Given the description of an element on the screen output the (x, y) to click on. 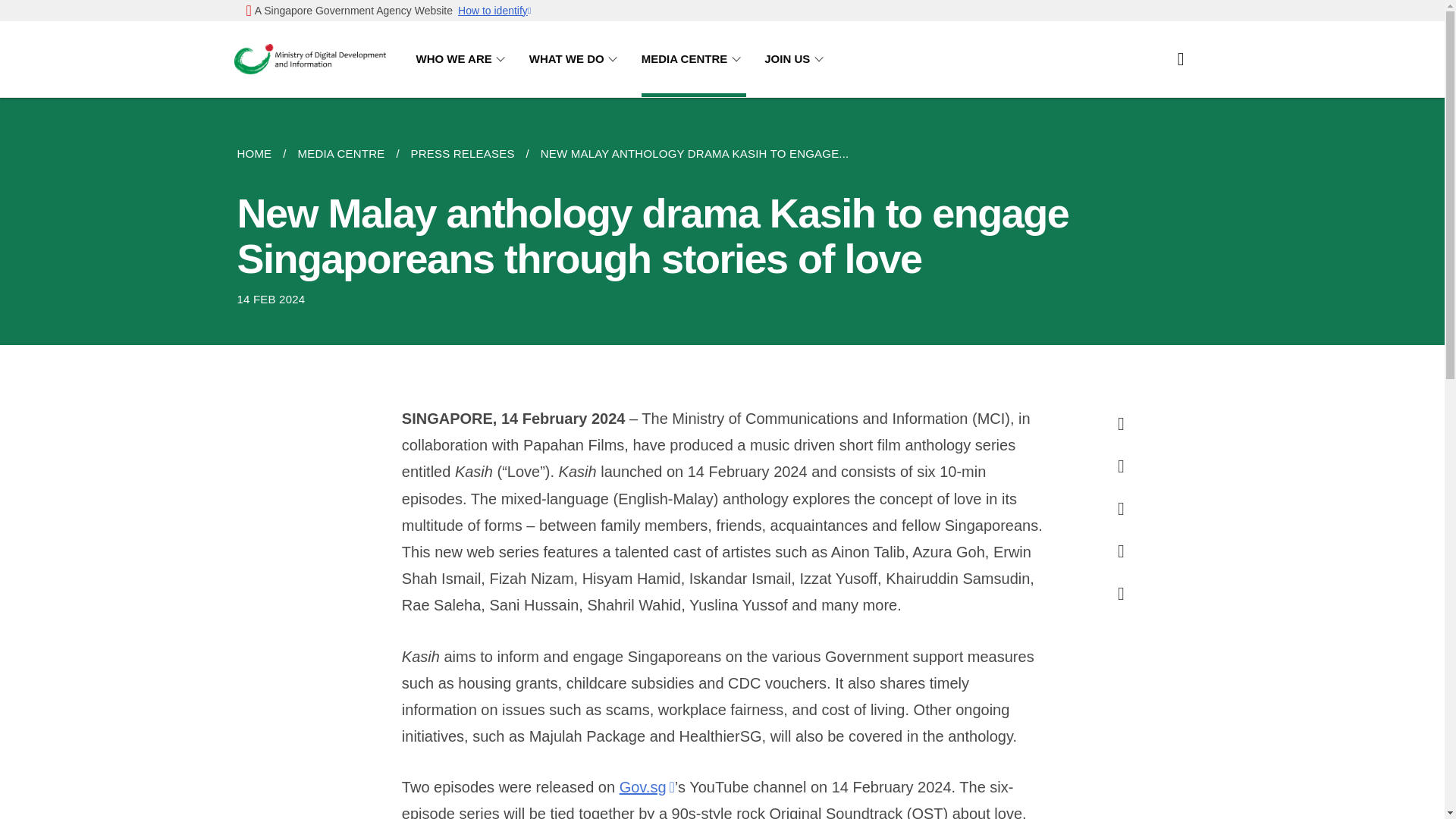
MEDIA CENTRE (340, 153)
WHO WE ARE (462, 59)
MEDIA CENTRE (694, 59)
HOME (258, 153)
Gov.sg (647, 786)
PRESS RELEASES (461, 153)
WHAT WE DO (576, 59)
NEW MALAY ANTHOLOGY DRAMA KASIH TO ENGAGE... (694, 153)
